Given the description of an element on the screen output the (x, y) to click on. 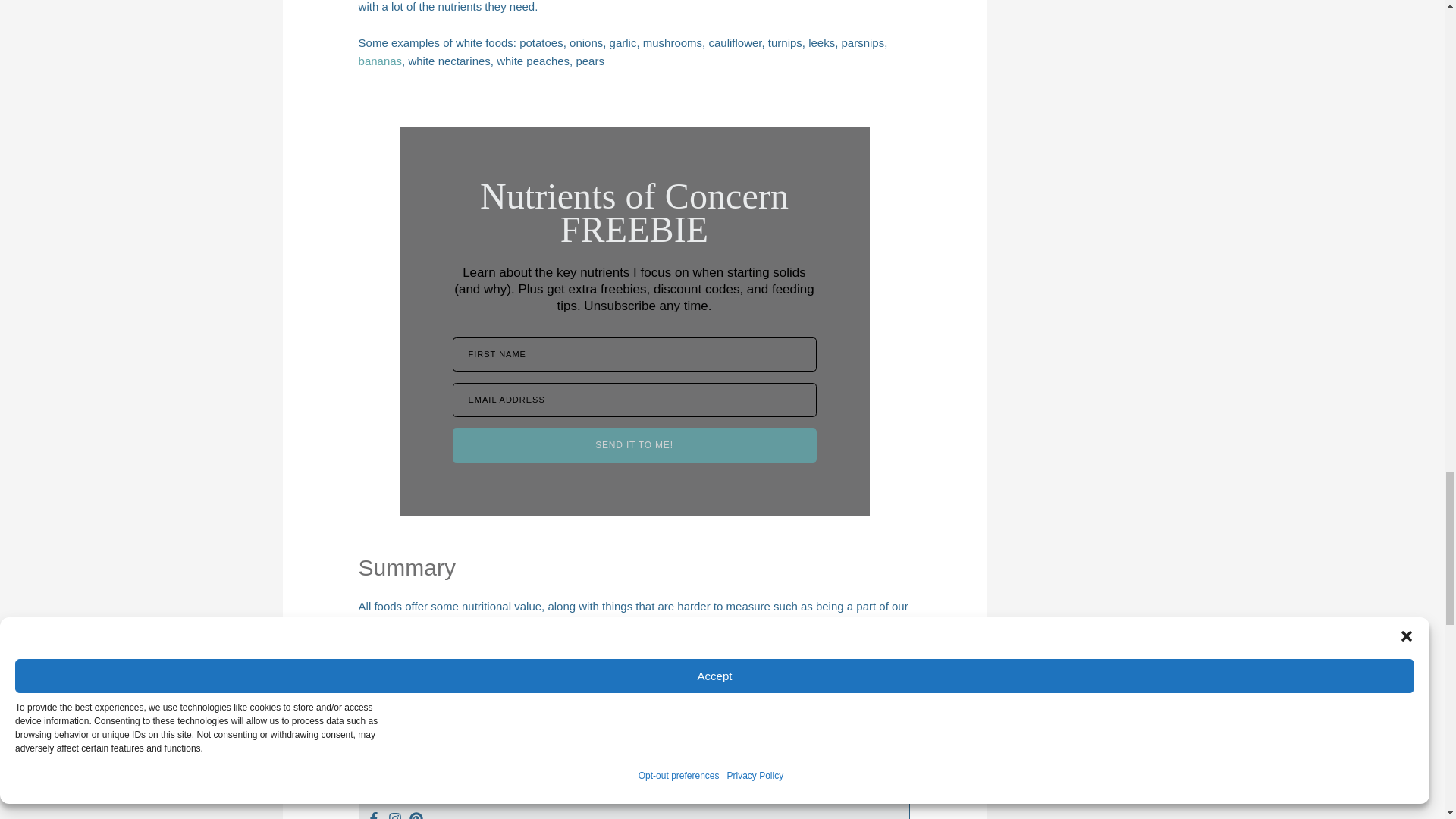
Instagram (394, 815)
Pinterest (416, 815)
Facebook (373, 815)
